Given the description of an element on the screen output the (x, y) to click on. 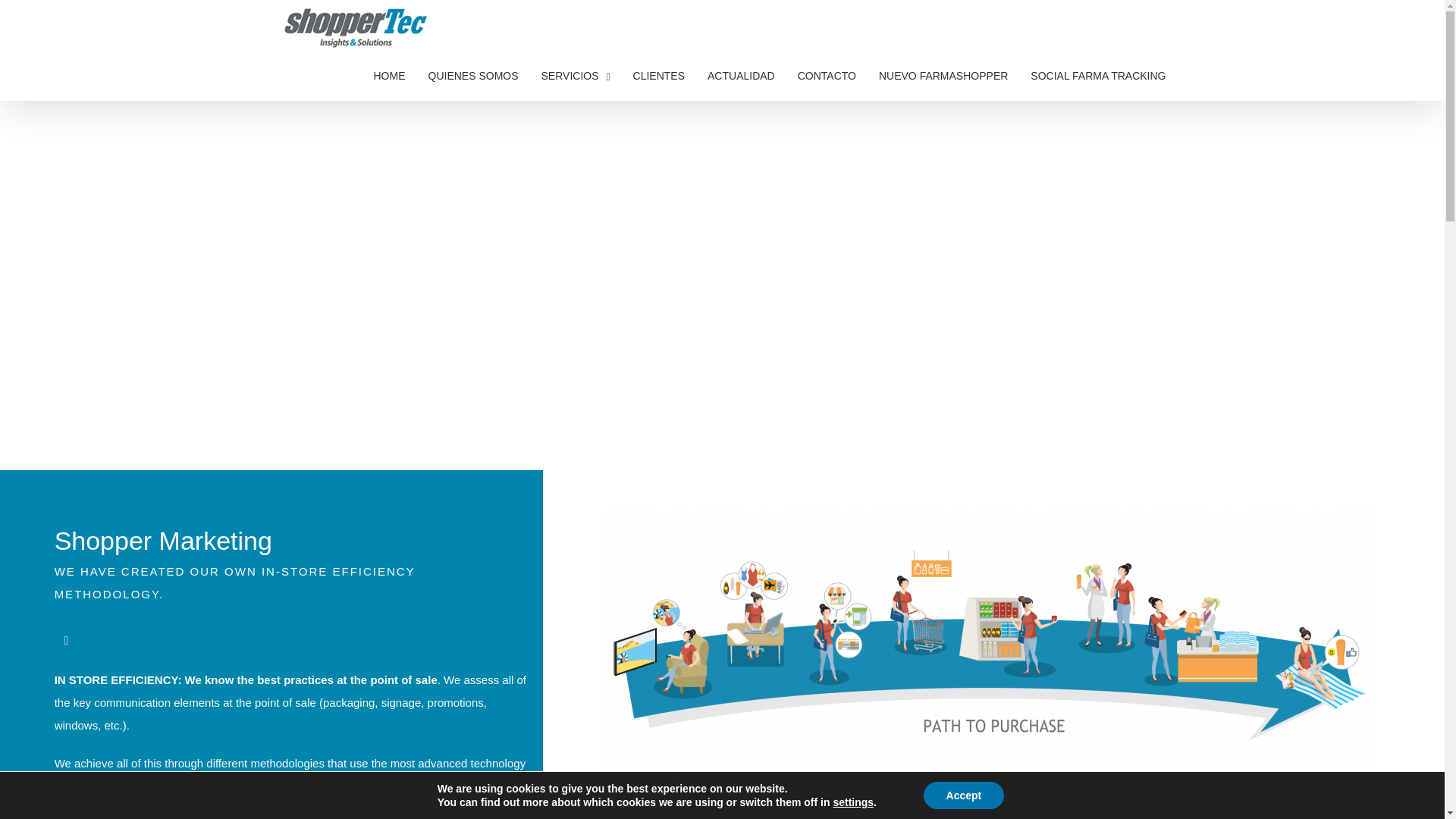
CLIENTES (658, 75)
QUIENES SOMOS (473, 75)
NUEVO FARMASHOPPER (943, 75)
SERVICIOS (575, 75)
SOCIAL FARMA TRACKING (1098, 75)
ACTUALIDAD (740, 75)
HOME (388, 75)
CONTACTO (826, 75)
